Given the description of an element on the screen output the (x, y) to click on. 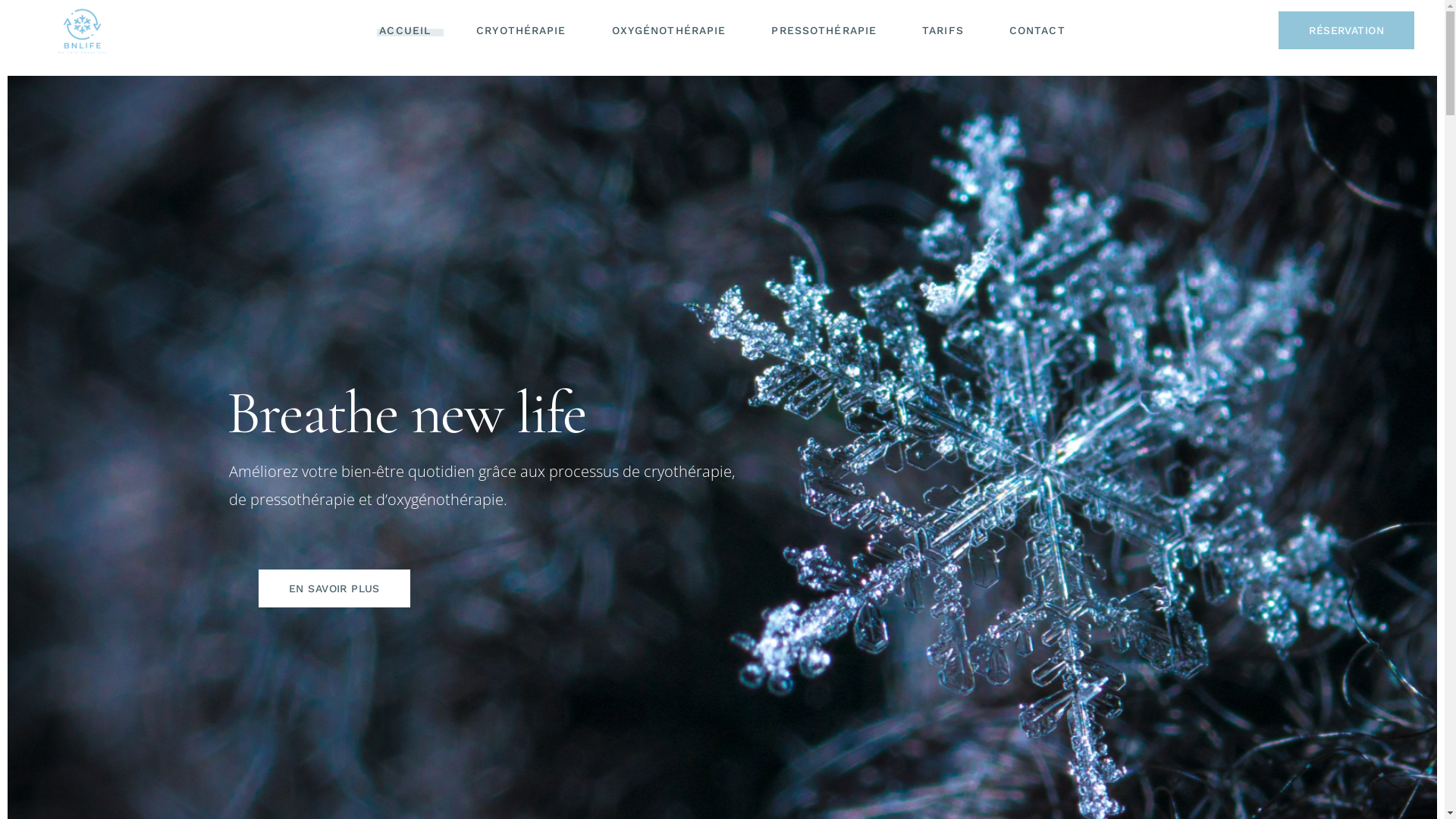
EN SAVOIR PLUS Element type: text (334, 588)
TARIFS Element type: text (942, 30)
ACCUEIL Element type: text (404, 30)
CONTACT Element type: text (1037, 30)
